Given the description of an element on the screen output the (x, y) to click on. 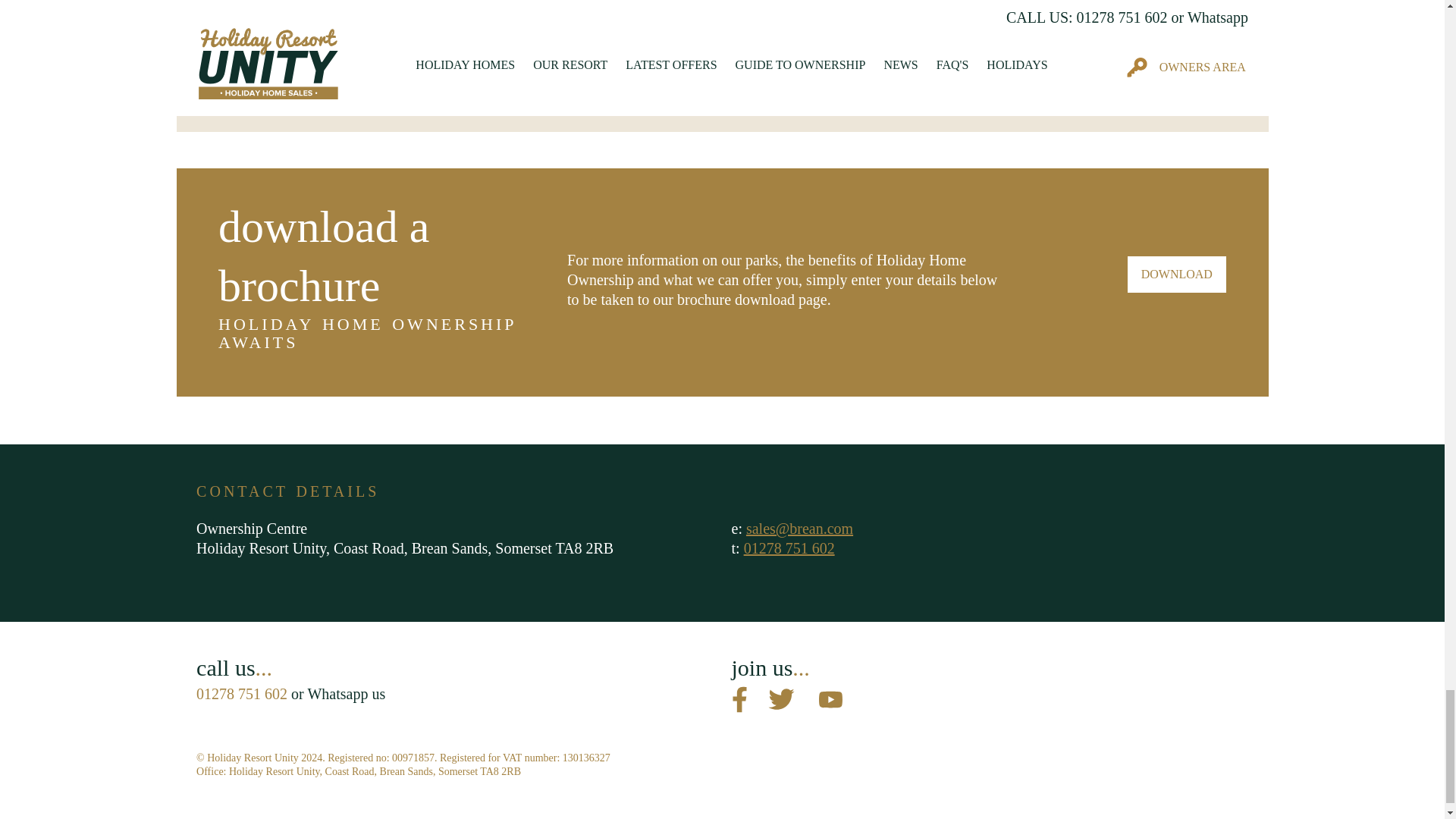
01278 751 602 (789, 547)
FIND OUT MORE (256, 67)
01278 751 602 (241, 693)
DOWNLOAD (1175, 274)
Whatsapp us (346, 693)
